Given the description of an element on the screen output the (x, y) to click on. 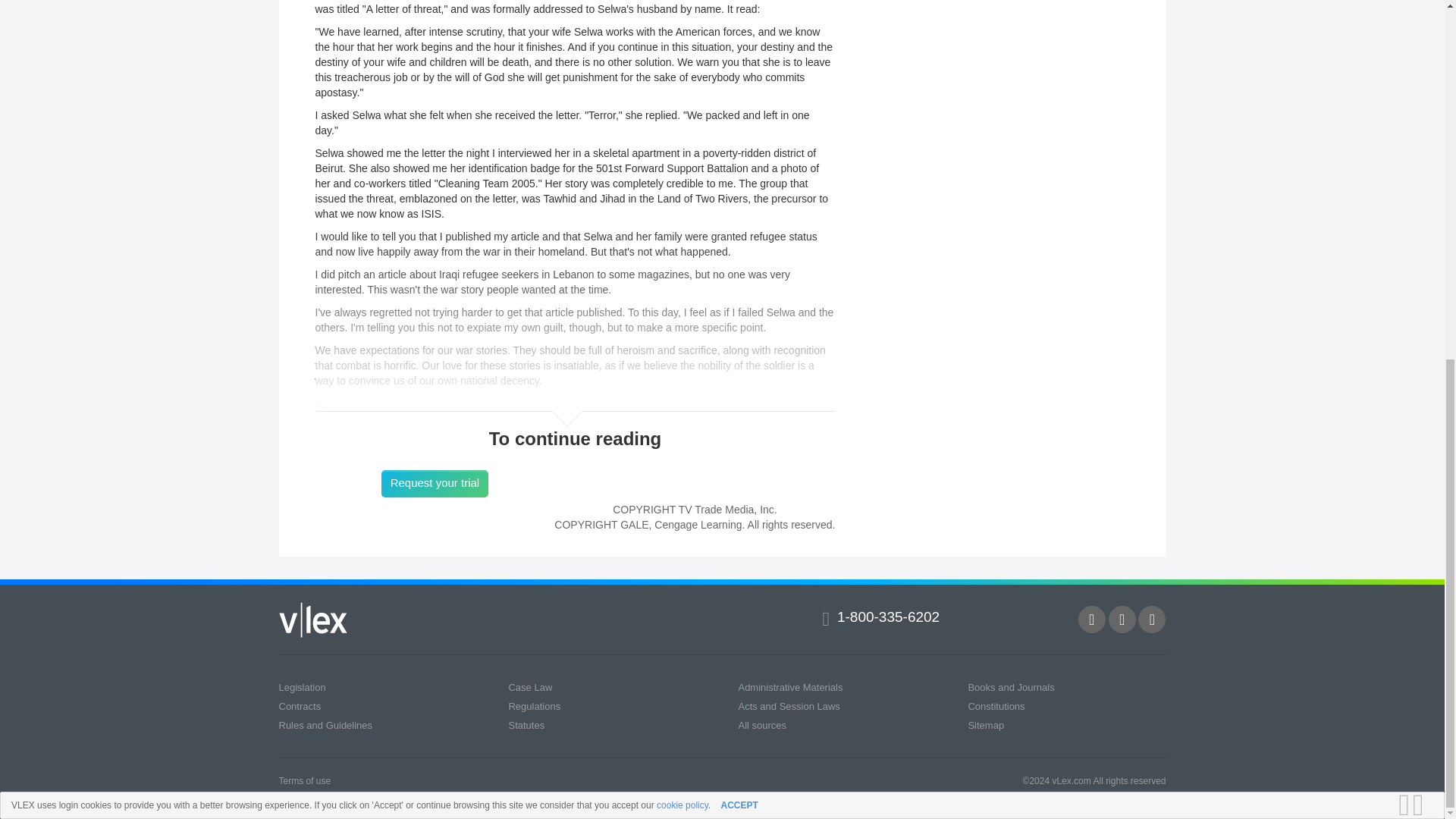
Contracts (300, 706)
Statutes (526, 725)
Terms of use (305, 780)
Statutes (526, 725)
cookie policy (681, 167)
vLex (313, 619)
Books and Journals (1011, 686)
All sources (762, 725)
CLOSE (1422, 168)
Sitemap (986, 725)
Legislation (302, 686)
Rules and Guidelines (325, 725)
Constitutions (996, 706)
Legislation (302, 686)
ACCEPT (739, 167)
